Given the description of an element on the screen output the (x, y) to click on. 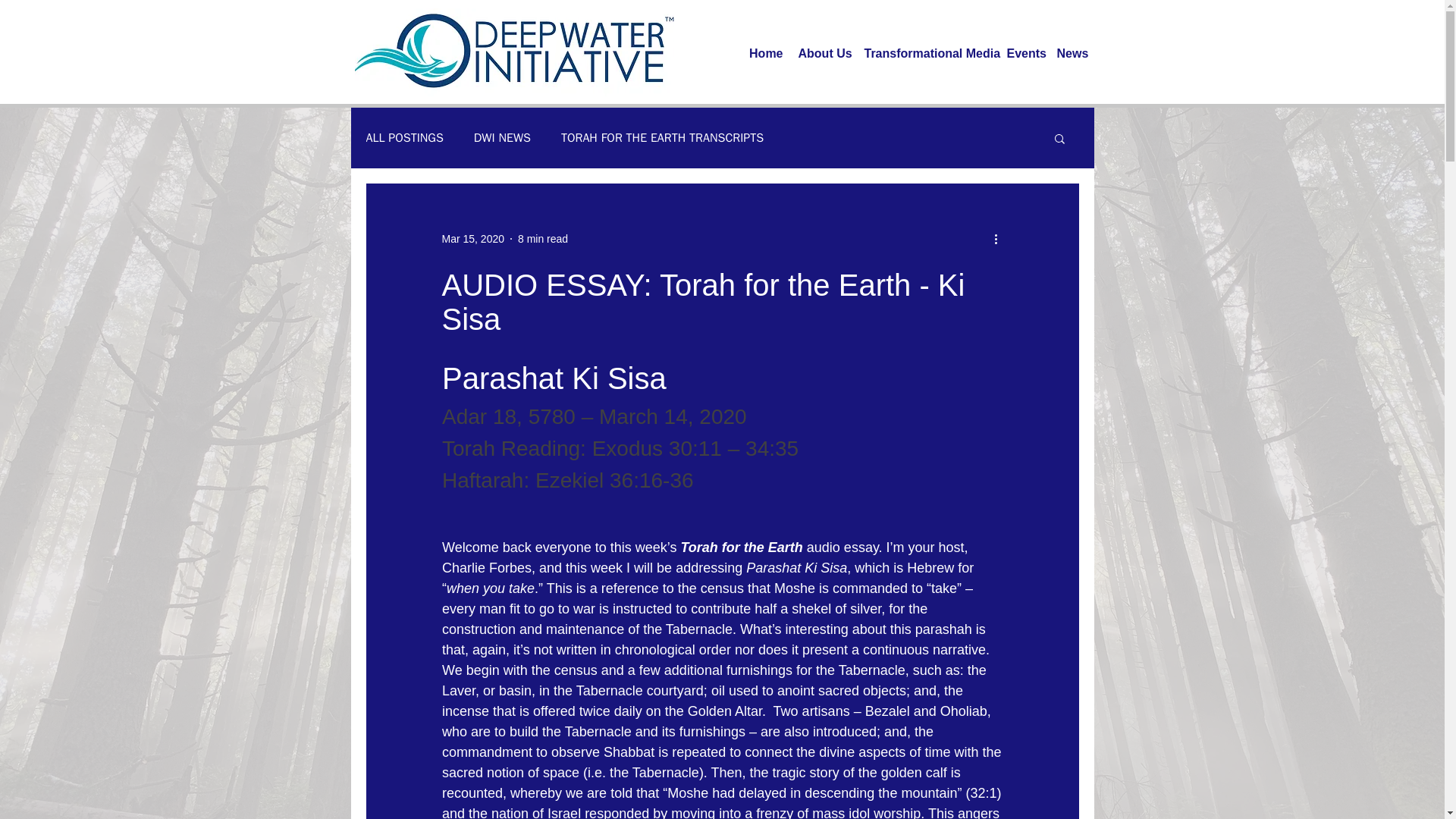
About Us (823, 53)
ALL POSTINGS (403, 138)
News (1071, 53)
TORAH FOR THE EARTH TRANSCRIPTS (661, 138)
DWI NEWS (502, 138)
Home (765, 53)
Events (1023, 53)
Transformational Media (927, 53)
8 min read (542, 237)
Mar 15, 2020 (472, 237)
